Given the description of an element on the screen output the (x, y) to click on. 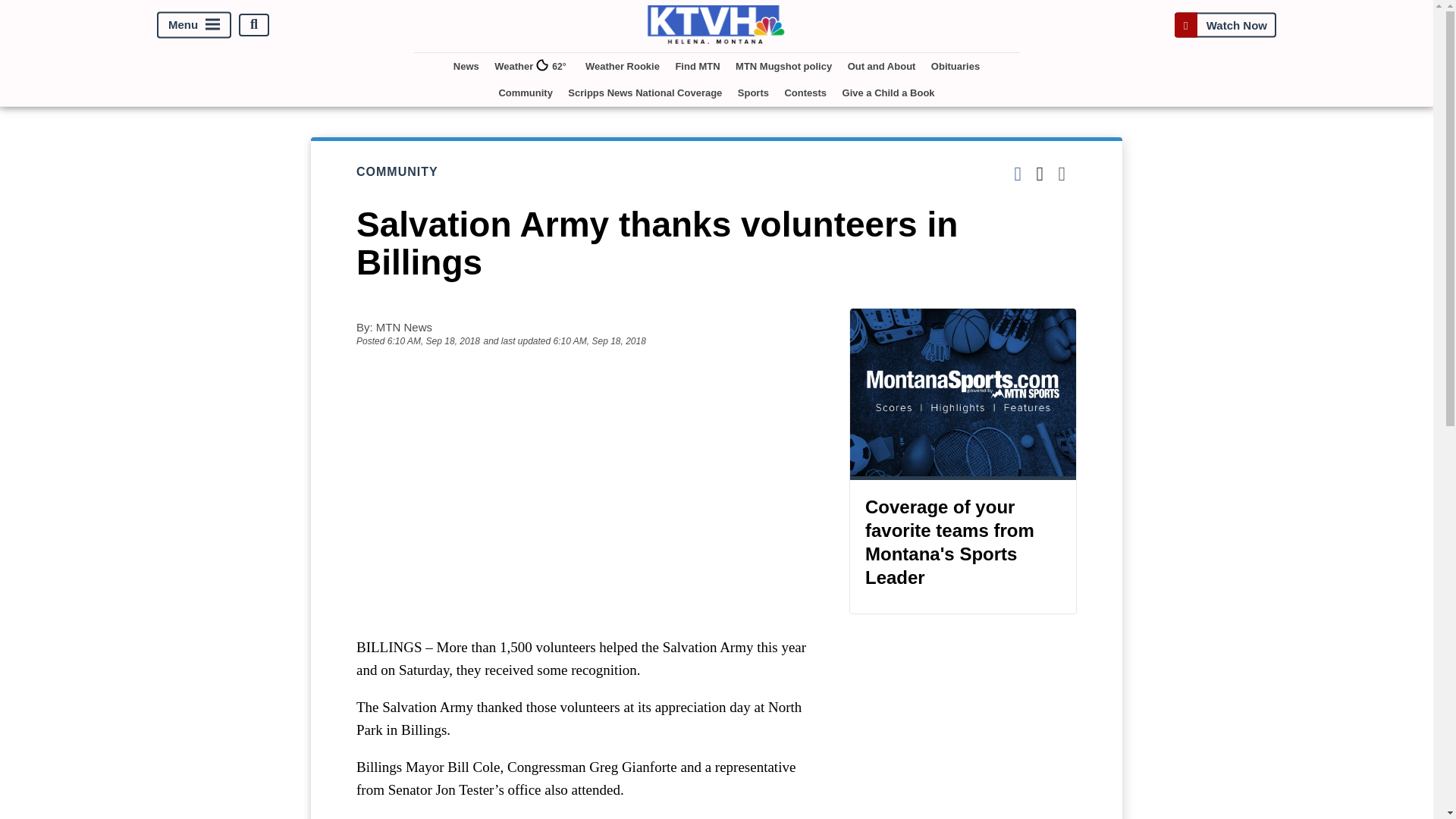
YouTube player (587, 491)
Watch Now (1224, 24)
Menu (194, 24)
